Given the description of an element on the screen output the (x, y) to click on. 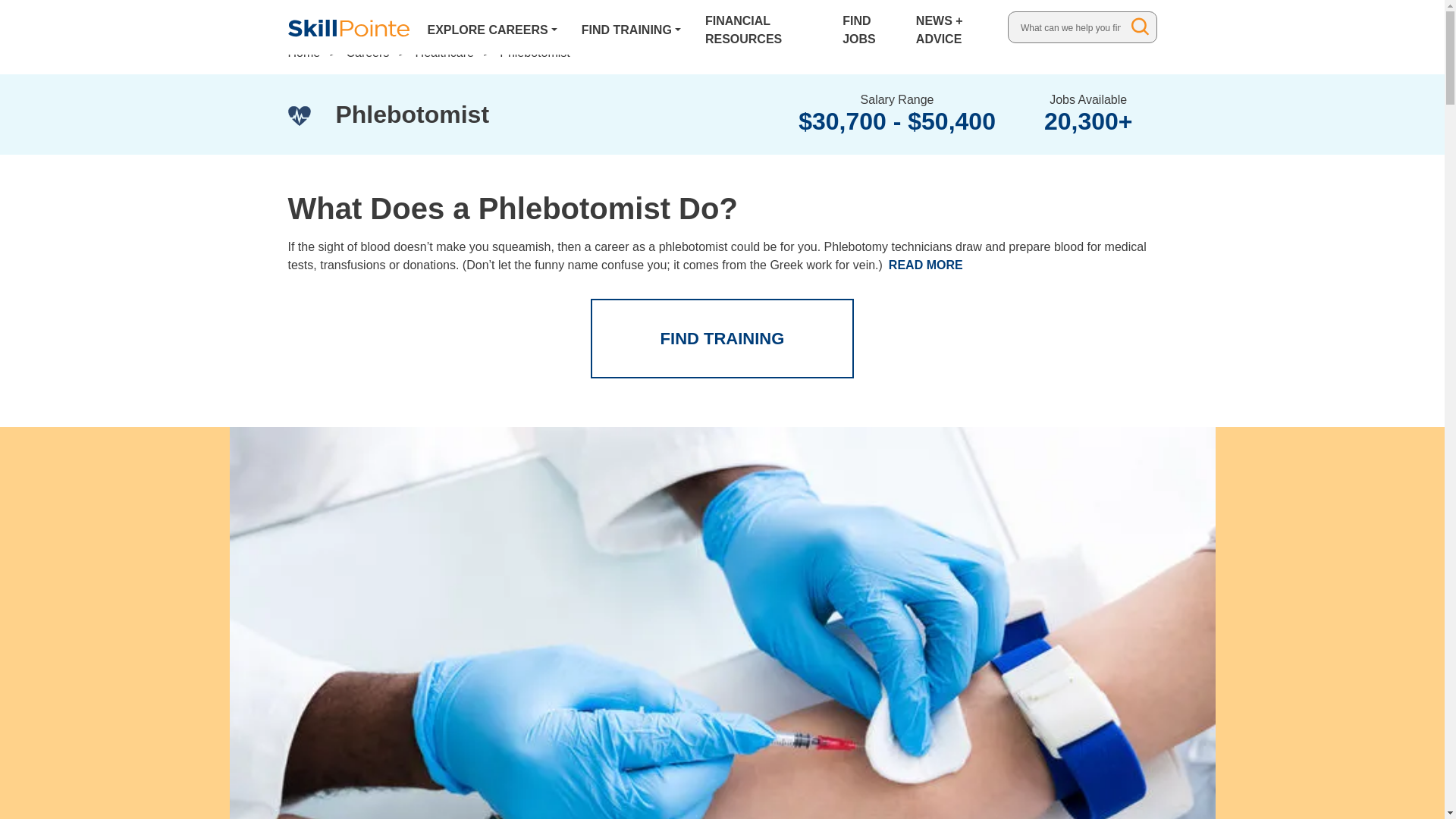
Careers (367, 51)
SkillPointe (348, 27)
EXPLORE CAREERS (492, 27)
Phlebotomist (534, 51)
SkillPointe homepage (348, 27)
Home (304, 51)
READ MORE (925, 265)
Healthcare (444, 51)
FIND JOBS (866, 26)
FIND TRAINING (631, 27)
FIND TRAINING (722, 338)
Search (1140, 26)
FINANCIAL RESOURCES (761, 26)
